Given the description of an element on the screen output the (x, y) to click on. 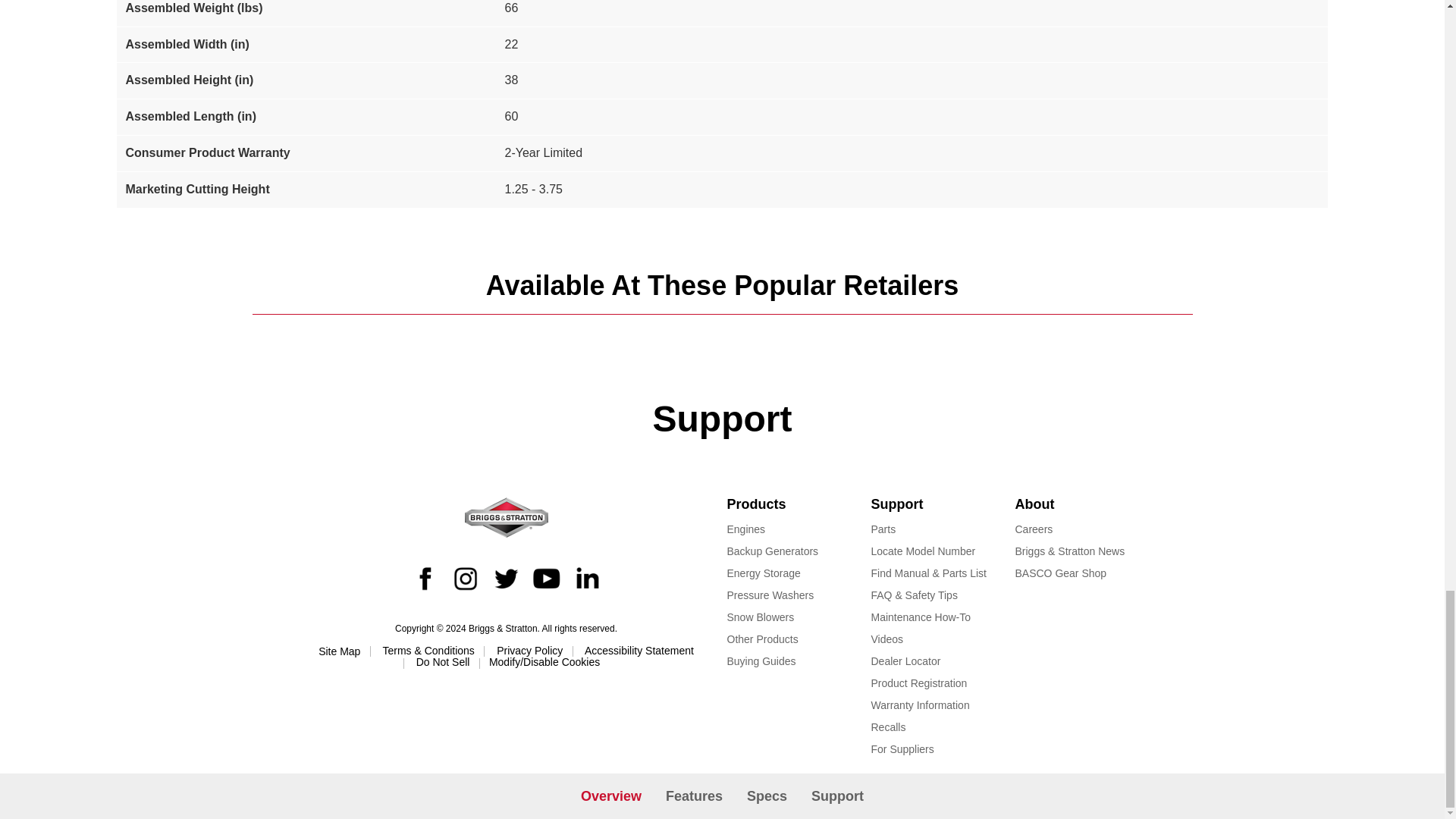
YouTube (546, 577)
